Given the description of an element on the screen output the (x, y) to click on. 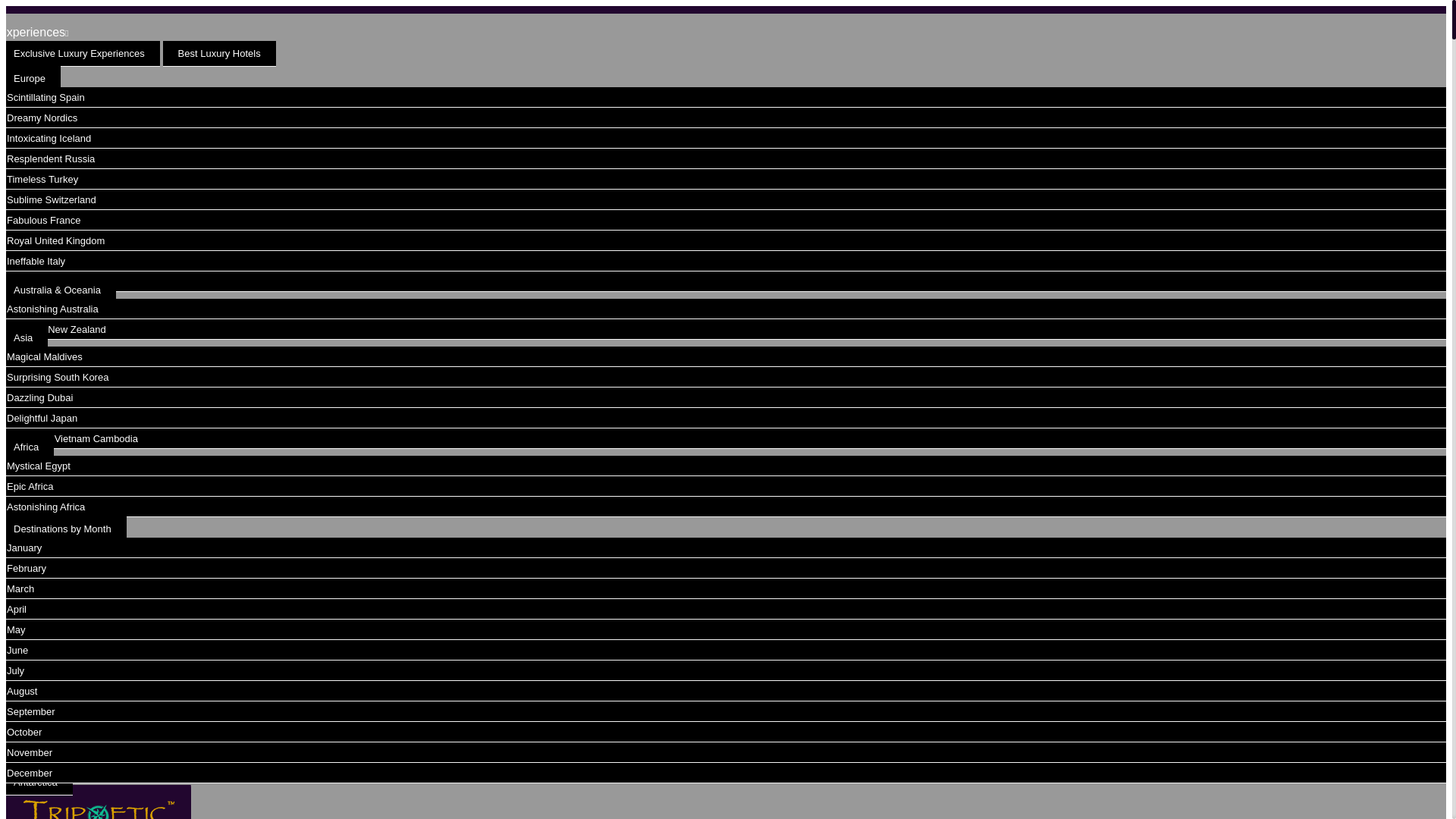
Astonishing Africa (45, 506)
Curated Journeys (48, 57)
March (20, 588)
Dazzling Dubai (39, 397)
Magical Maldives (44, 356)
Timeless Turkey (42, 179)
Surprising South Korea (57, 377)
Destination (32, 508)
Dreamy Nordics (42, 117)
Experiences (34, 31)
Wondrous Vietnam Cambodia (72, 438)
Asia (24, 338)
June (17, 650)
Exclusive Luxury Experiences (80, 53)
February (26, 568)
